Given the description of an element on the screen output the (x, y) to click on. 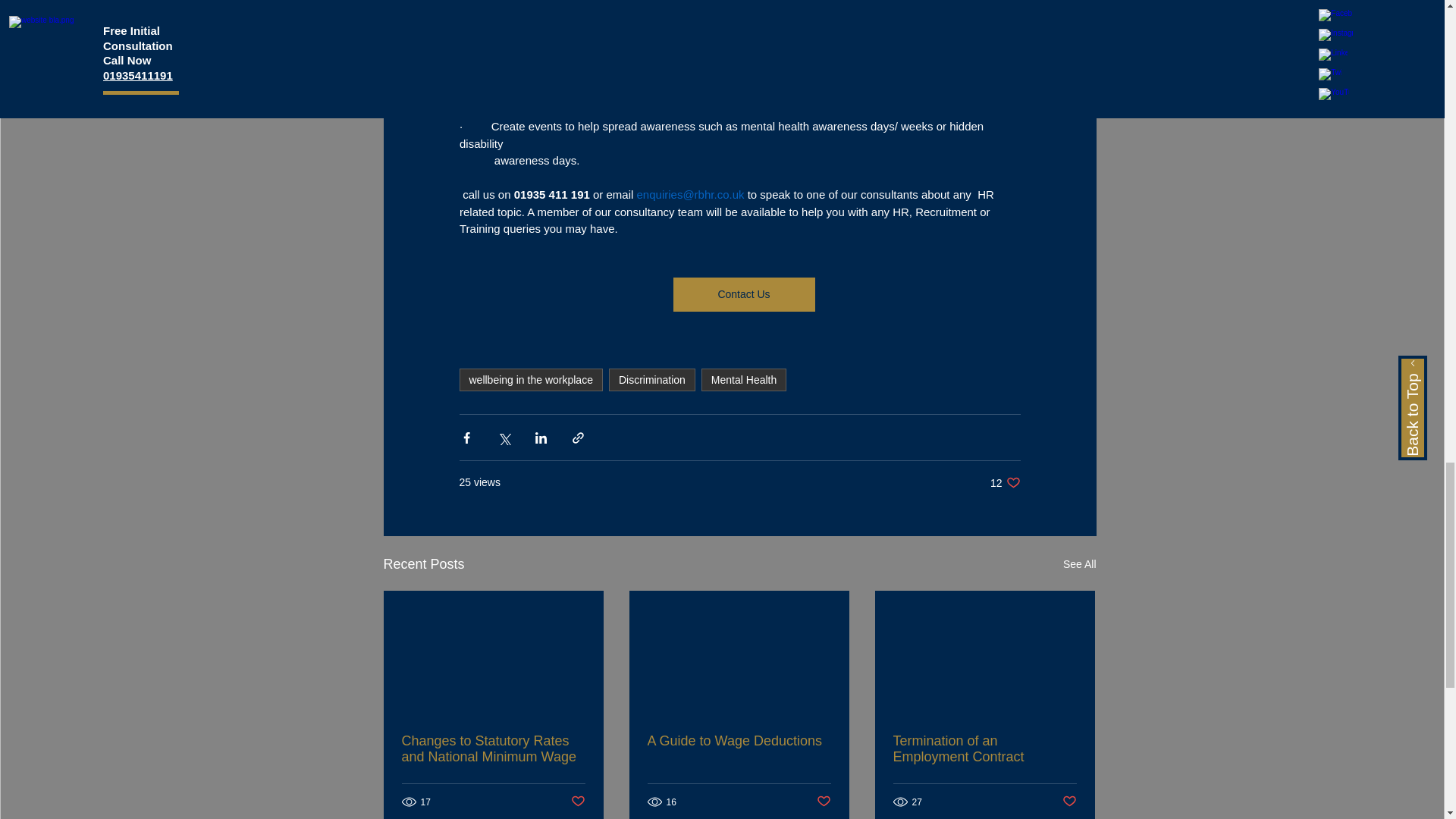
Mental Health (743, 379)
Post not marked as liked (577, 801)
Discrimination (651, 379)
See All (1079, 564)
wellbeing in the workplace (531, 379)
Changes to Statutory Rates and National Minimum Wage (493, 748)
Contact Us (742, 294)
